Given the description of an element on the screen output the (x, y) to click on. 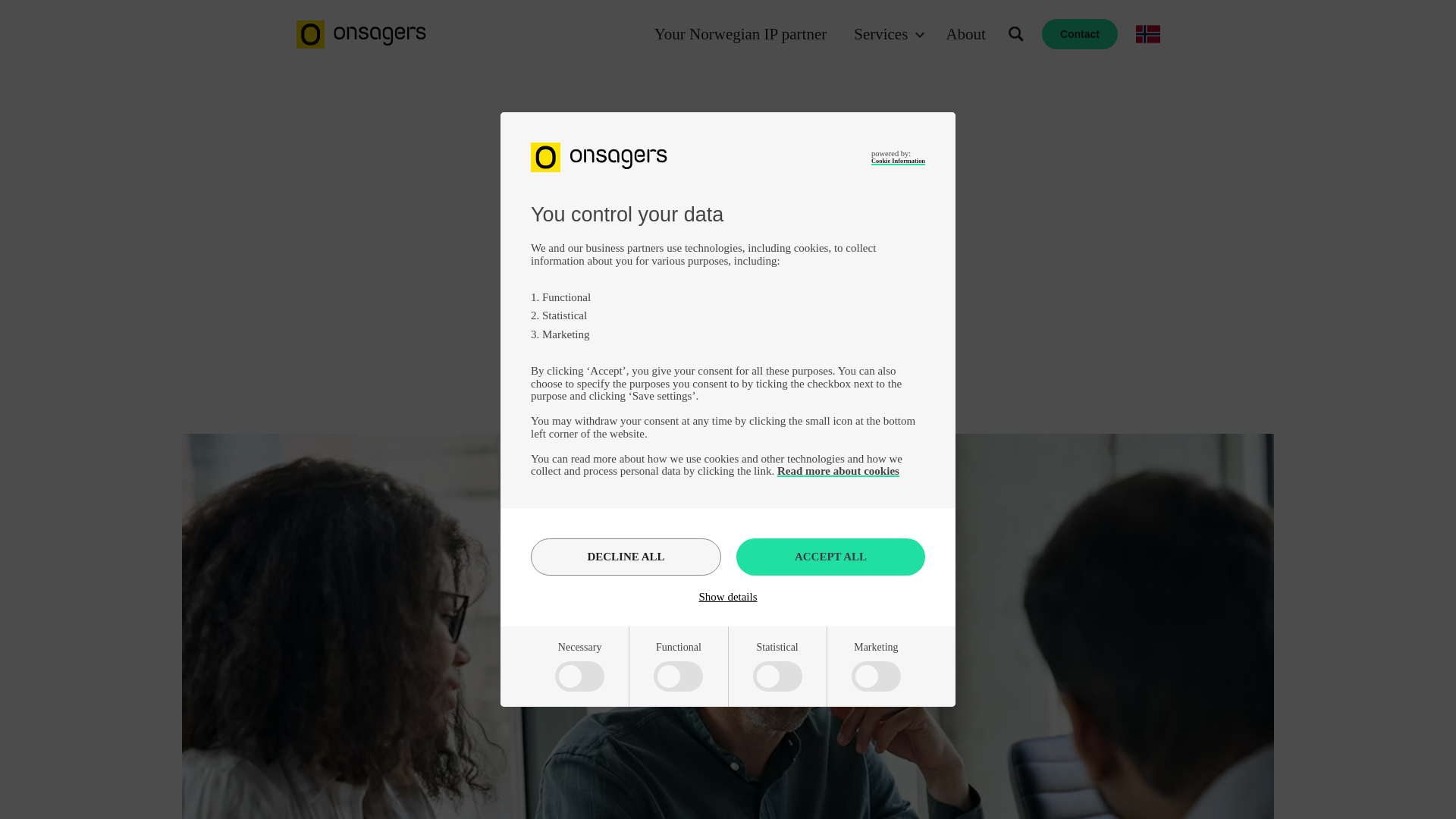
Show details (727, 596)
DECLINE ALL (625, 556)
ACCEPT ALL (830, 556)
Read more about cookies (838, 470)
Cookie Information (897, 161)
